Given the description of an element on the screen output the (x, y) to click on. 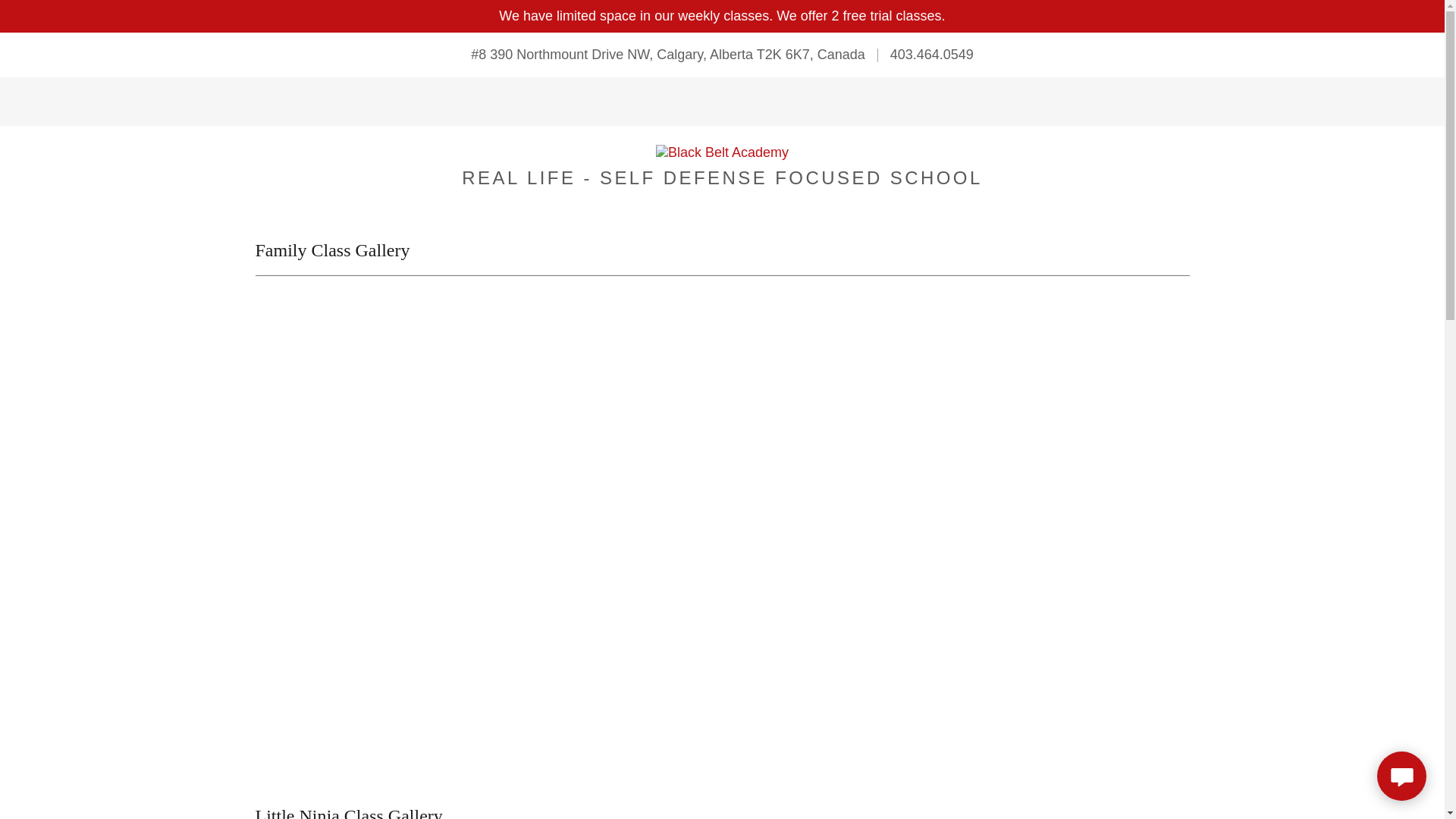
403.464.0549 Element type: text (931, 54)
Black Belt Academy  Element type: hover (721, 151)
